Given the description of an element on the screen output the (x, y) to click on. 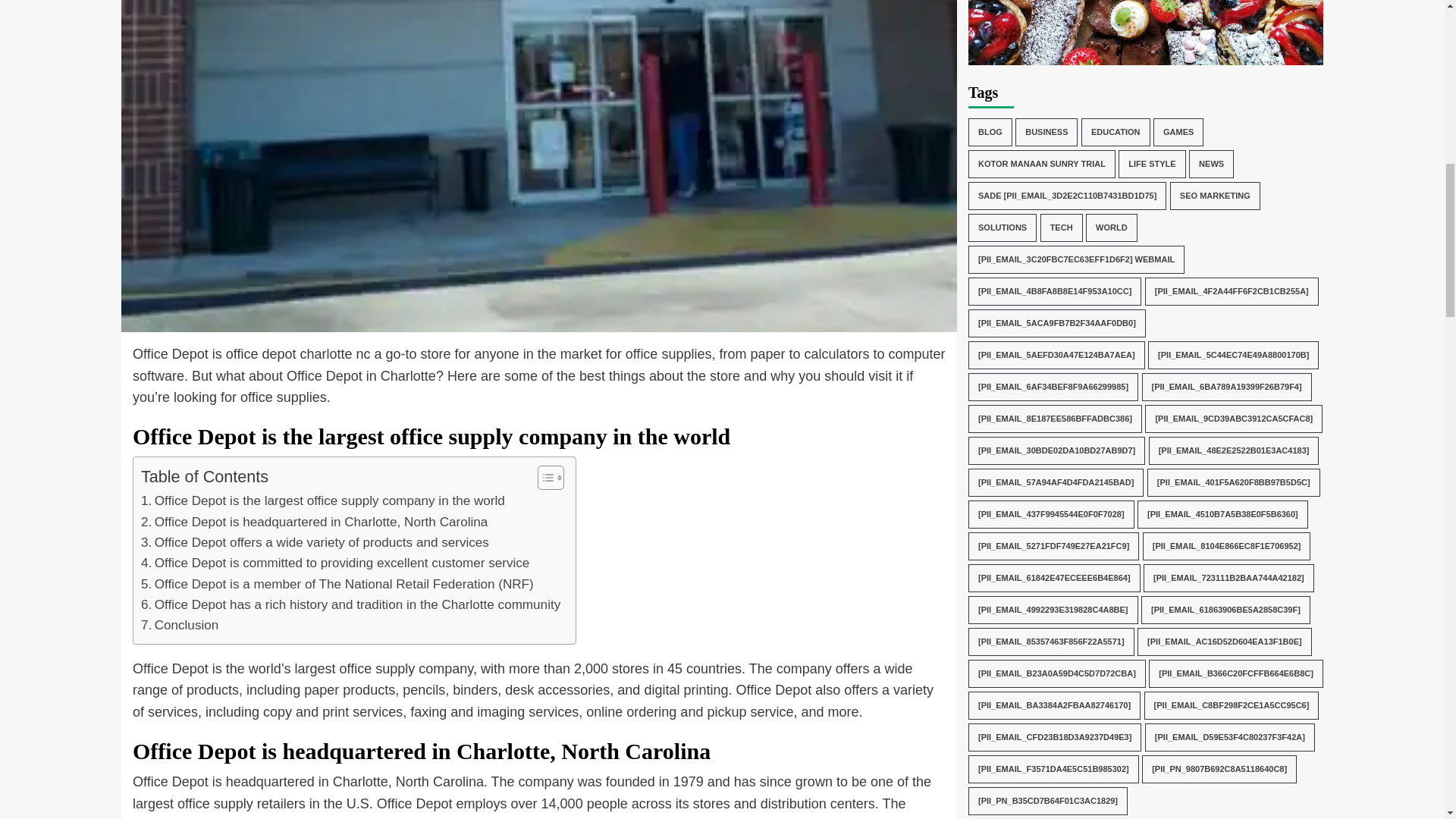
Conclusion (179, 625)
Conclusion (179, 625)
Office Depot is headquartered in Charlotte, North Carolina (314, 521)
Office Depot offers a wide variety of products and services (315, 542)
Office Depot offers a wide variety of products and services (315, 542)
Office Depot is headquartered in Charlotte, North Carolina (314, 521)
